Given the description of an element on the screen output the (x, y) to click on. 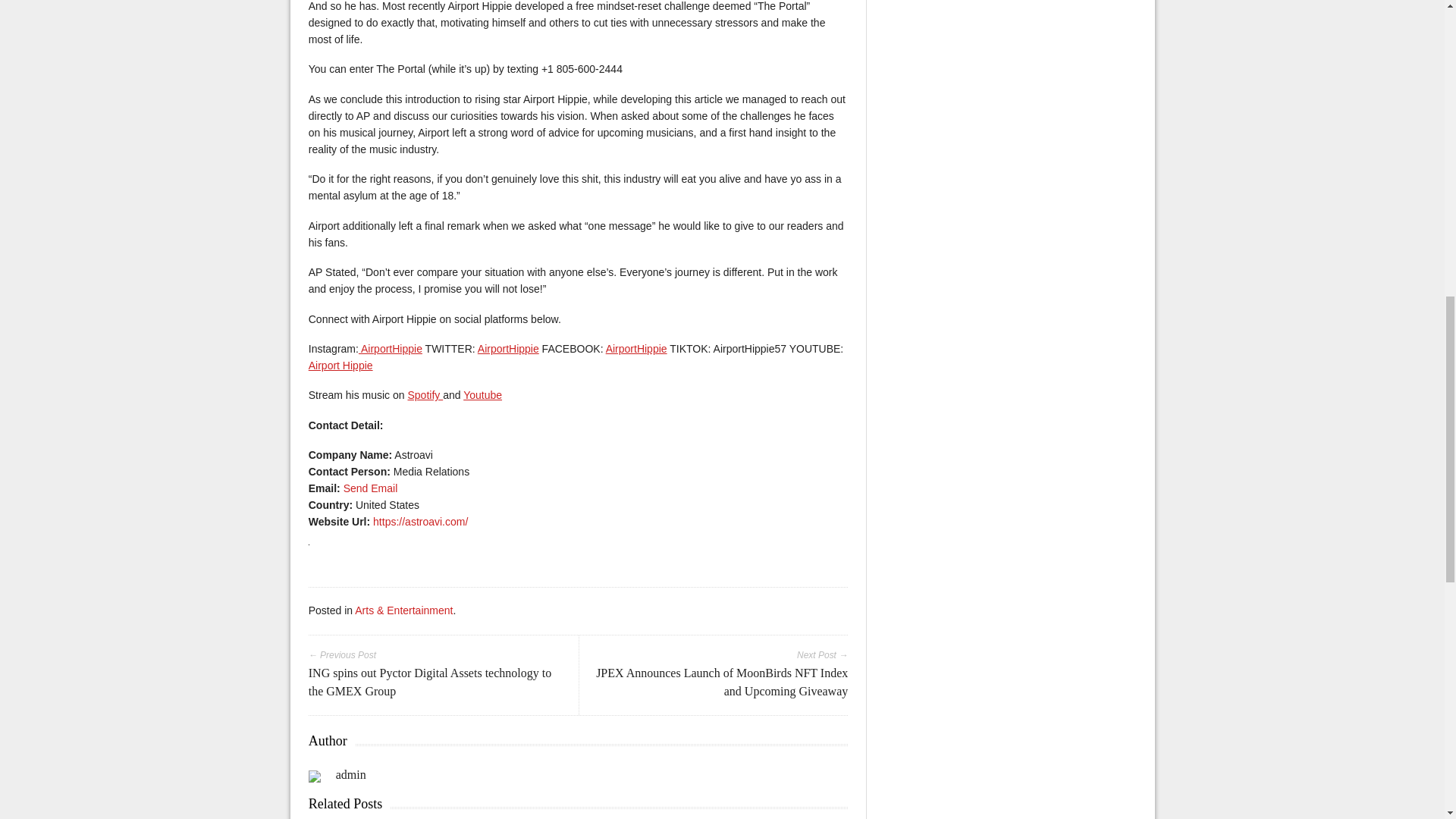
Posts by admin (351, 774)
AirportHippie (635, 348)
AirportHippie (390, 348)
Youtube (482, 395)
Send Email (370, 488)
AirportHippie (507, 348)
Airport Hippie (340, 365)
admin (351, 774)
Spotify (424, 395)
